Given the description of an element on the screen output the (x, y) to click on. 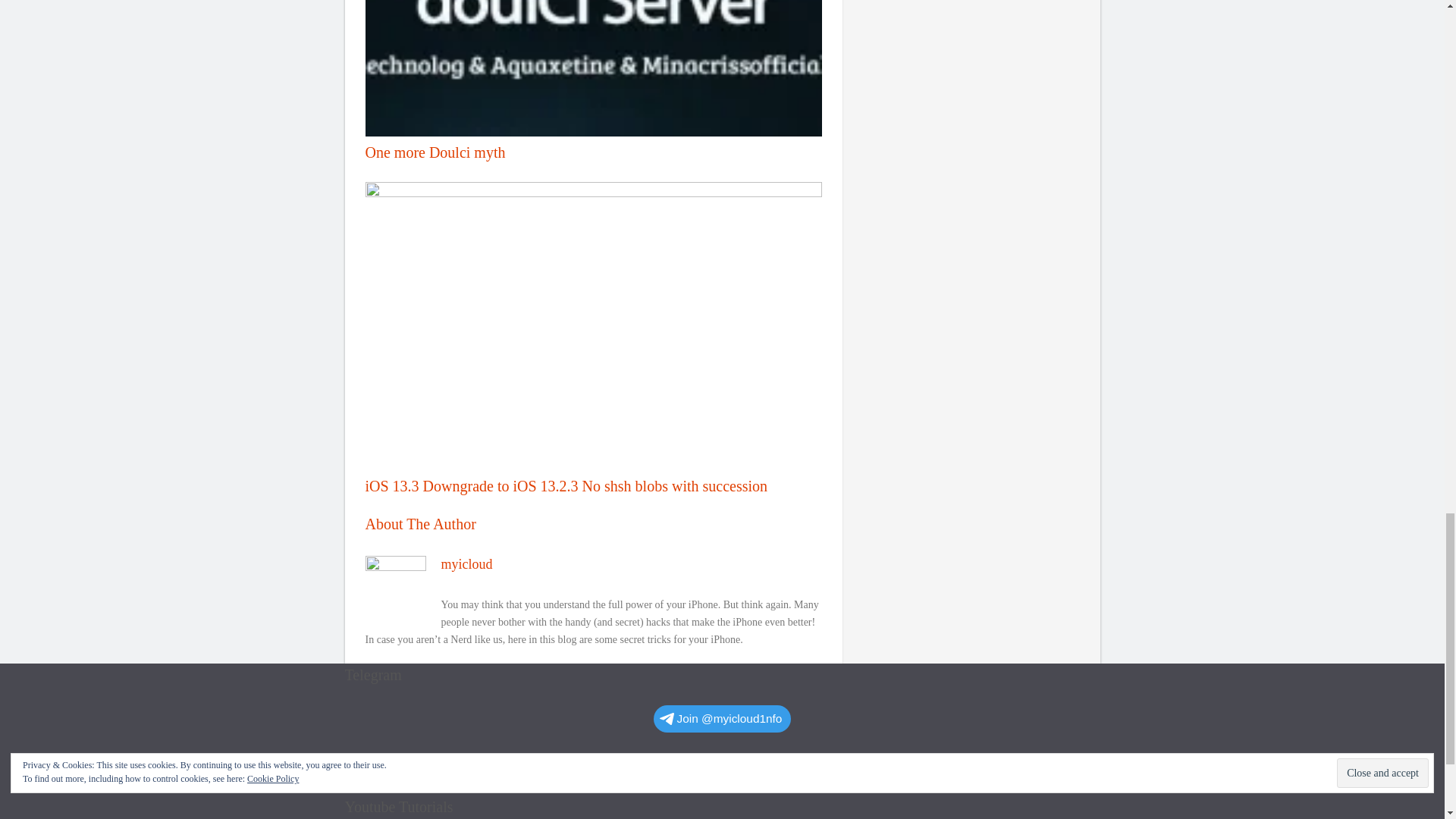
One more Doulci myth (593, 80)
